Given the description of an element on the screen output the (x, y) to click on. 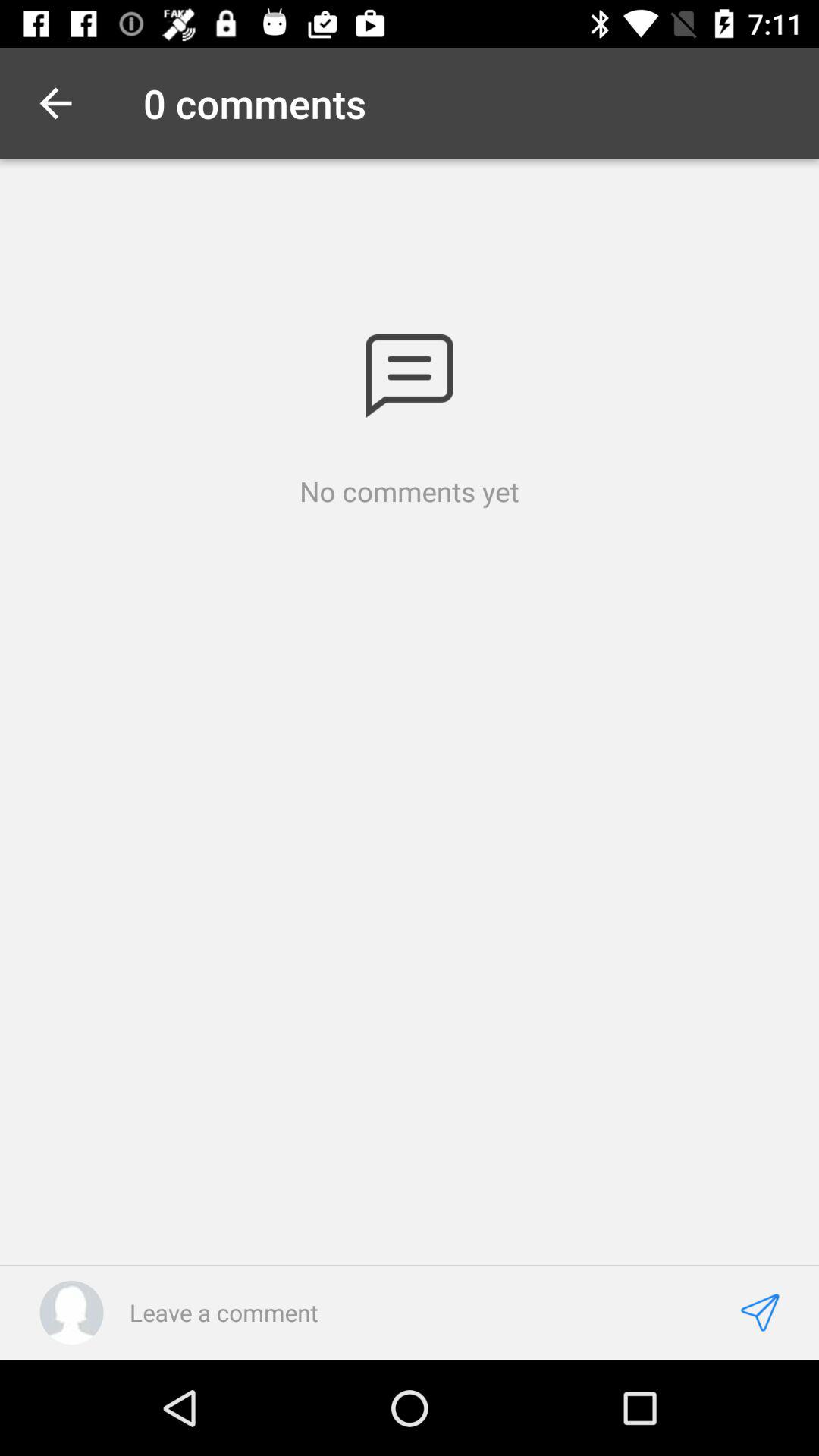
press item below the 0 comments (409, 376)
